Given the description of an element on the screen output the (x, y) to click on. 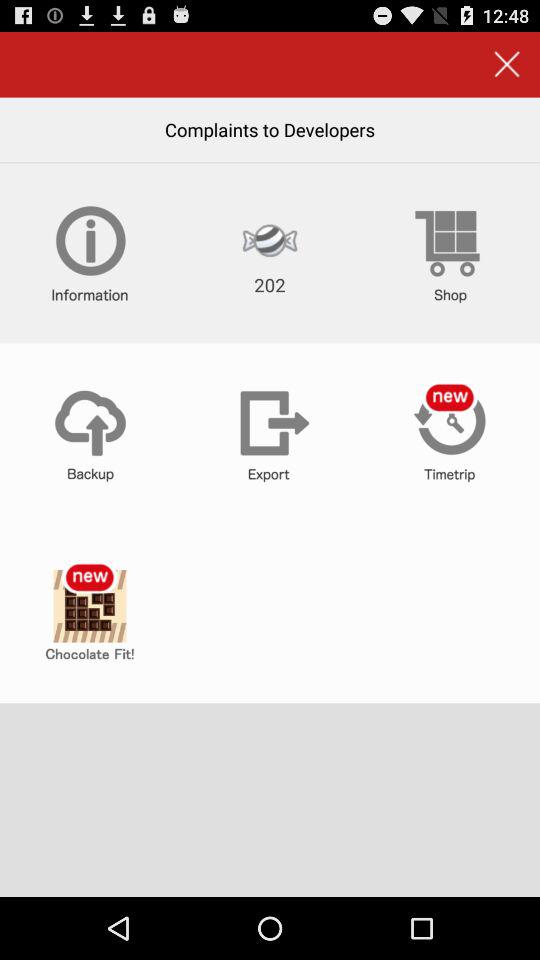
tap the icon at the top left corner (90, 253)
